Given the description of an element on the screen output the (x, y) to click on. 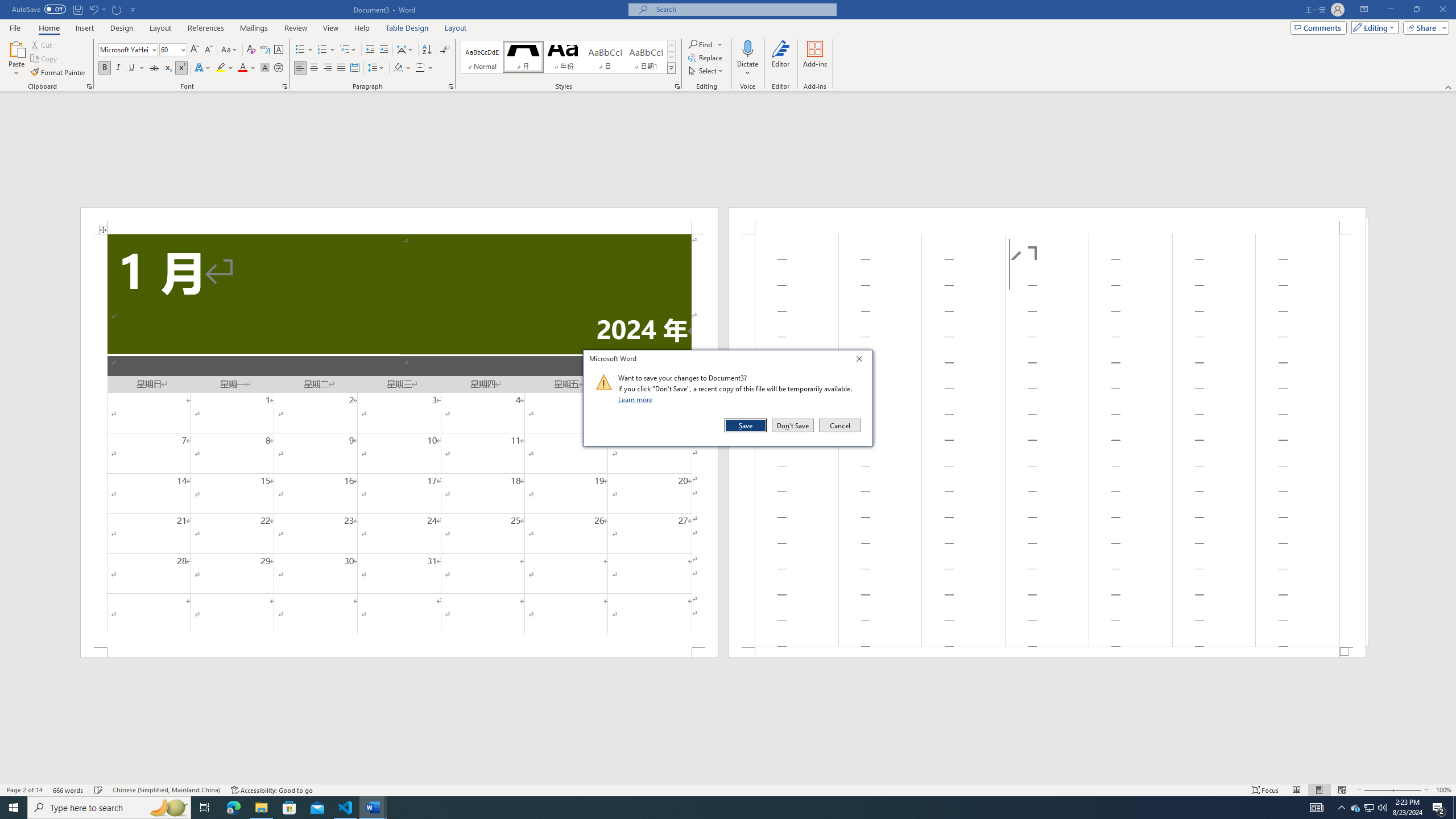
Page Number Page 2 of 14 (24, 790)
